Given the description of an element on the screen output the (x, y) to click on. 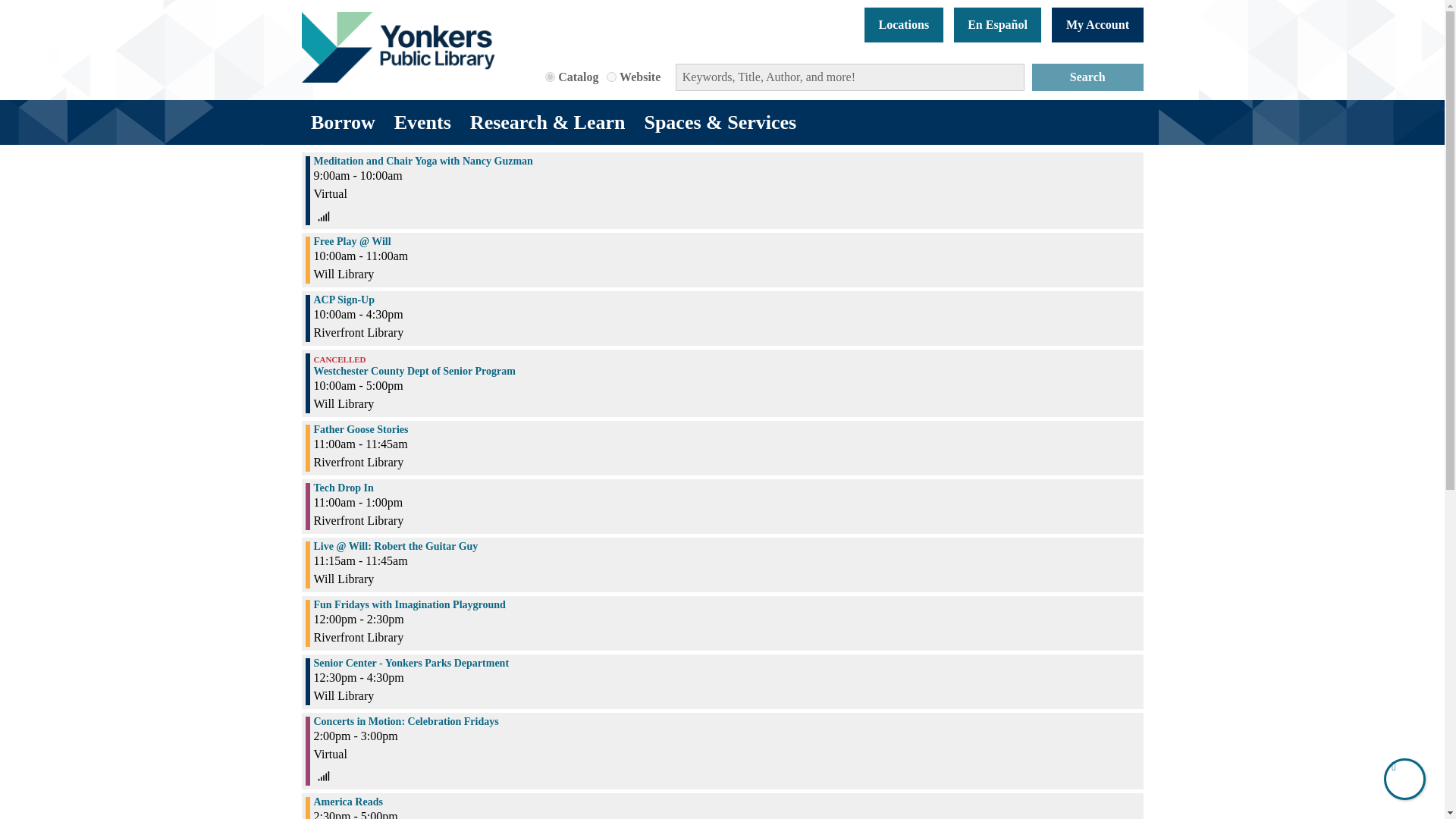
Back To Top (1404, 779)
Home (398, 47)
Search (1087, 76)
on (611, 76)
Locations (903, 24)
My Account (1096, 24)
on (549, 76)
